Given the description of an element on the screen output the (x, y) to click on. 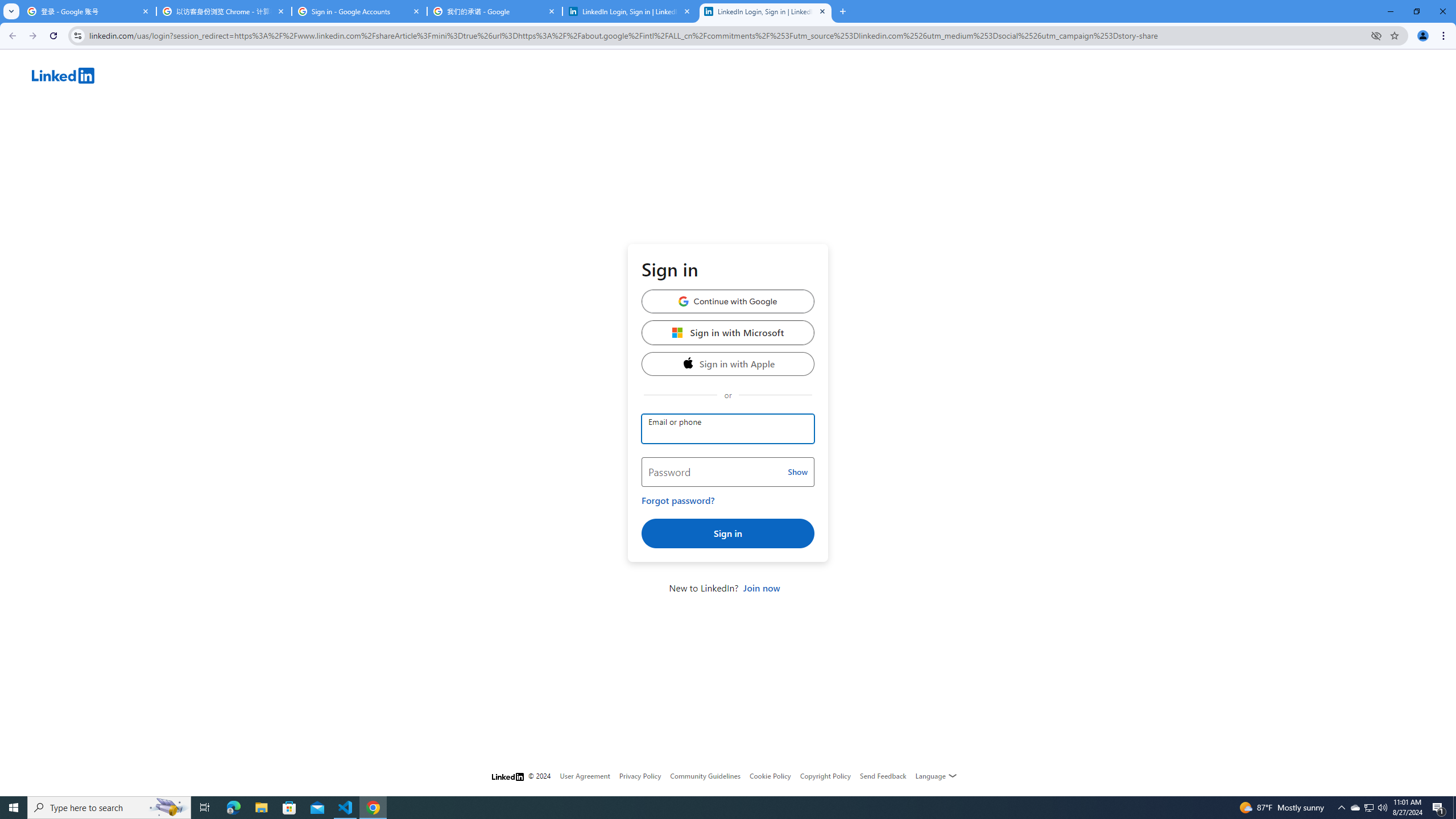
Sign in - Google Accounts (359, 11)
LinkedIn (744, 76)
Password (727, 472)
Email or phone (727, 428)
Sign in with Apple (727, 363)
User Agreement (584, 775)
Show (797, 472)
Join now (761, 588)
